Given the description of an element on the screen output the (x, y) to click on. 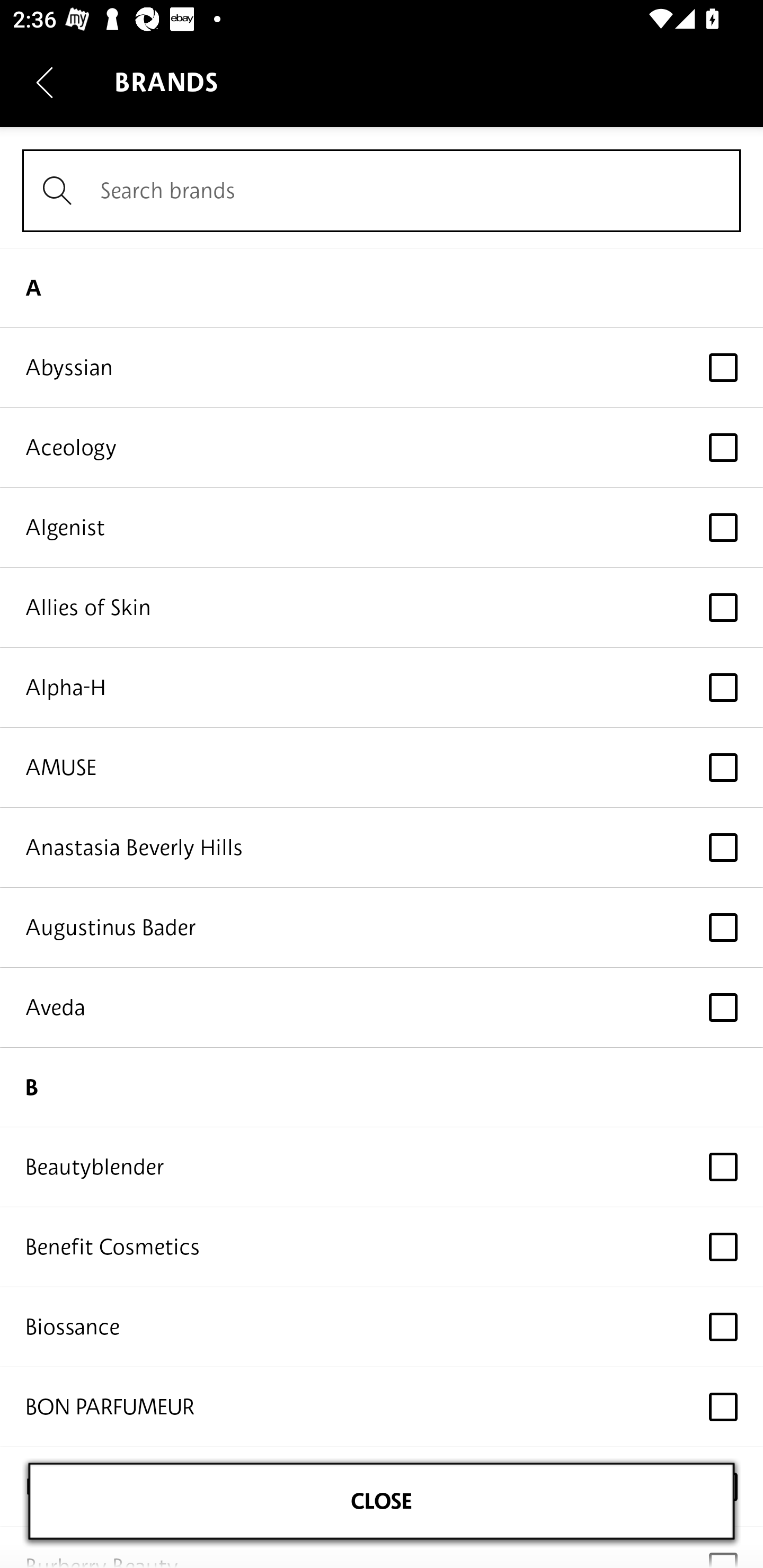
Navigate up (44, 82)
Search brands (381, 190)
A (381, 287)
Abyssian (381, 367)
Aceology (381, 447)
Algenist (381, 527)
Allies of Skin (381, 607)
Alpha-H (381, 687)
AMUSE (381, 767)
Anastasia Beverly Hills (381, 847)
Augustinus Bader (381, 927)
Aveda (381, 1007)
B (381, 1087)
Beautyblender (381, 1167)
Benefit Cosmetics (381, 1247)
Biossance (381, 1327)
BON PARFUMEUR (381, 1407)
CLOSE (381, 1501)
